Given the description of an element on the screen output the (x, y) to click on. 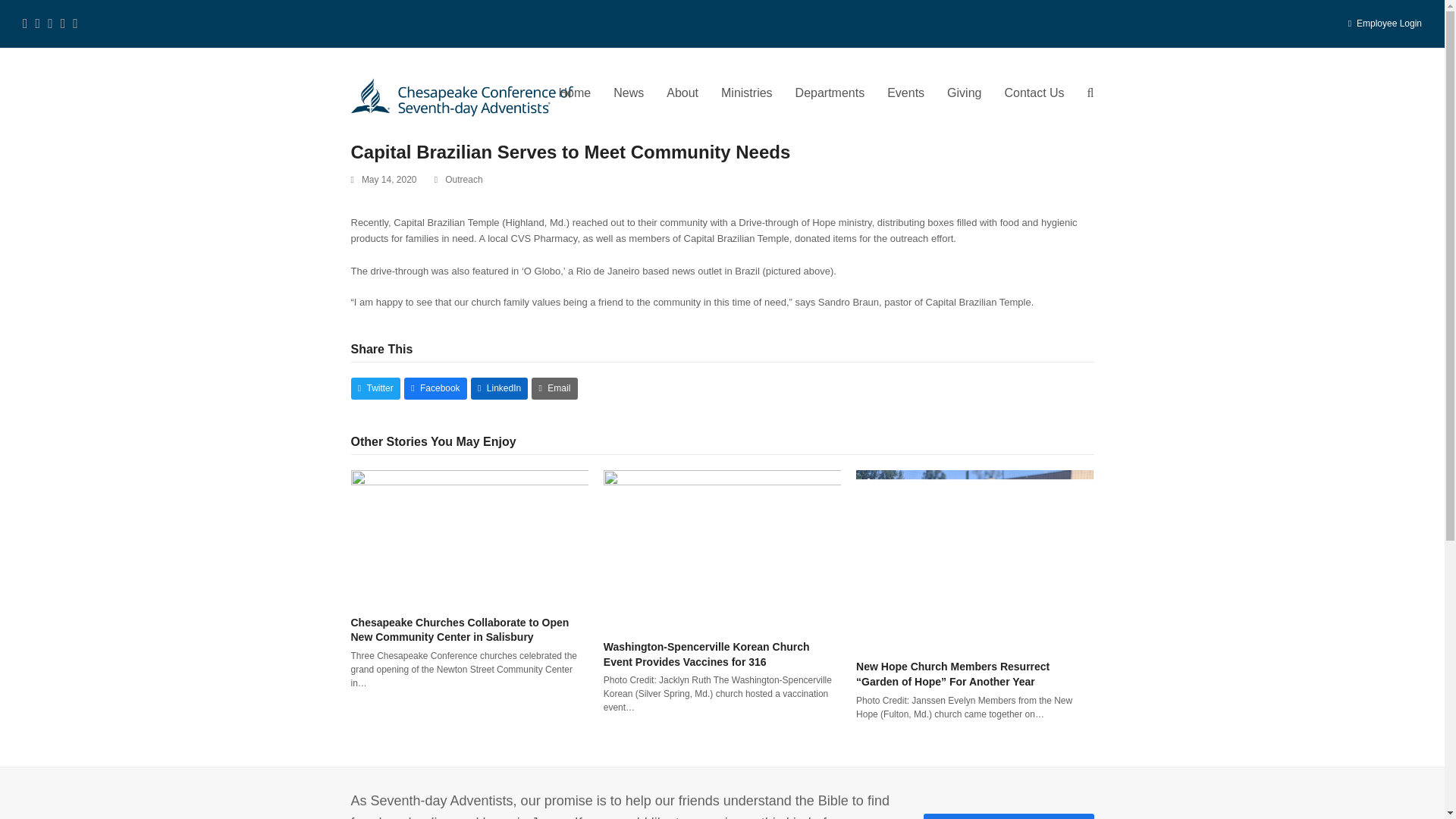
Ministries (747, 94)
Departments (830, 94)
Home (574, 94)
About (682, 94)
Employee Login (1389, 23)
News (628, 94)
